Given the description of an element on the screen output the (x, y) to click on. 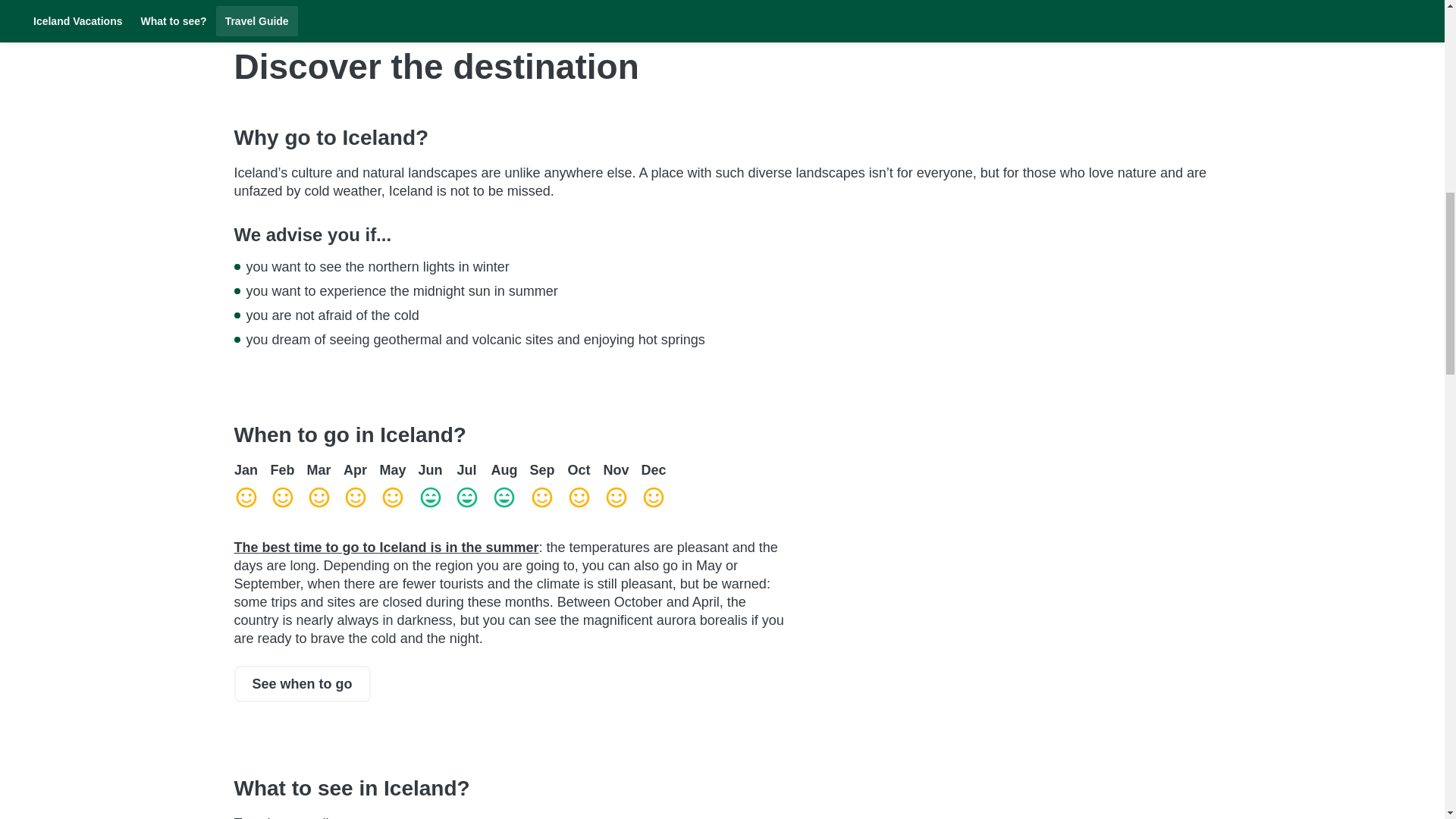
See when to go (300, 683)
When to go in Iceland? (300, 683)
When to go in Iceland? (512, 434)
When to go in Iceland? (512, 434)
The best time to go to Iceland is in the summer (385, 547)
